Given the description of an element on the screen output the (x, y) to click on. 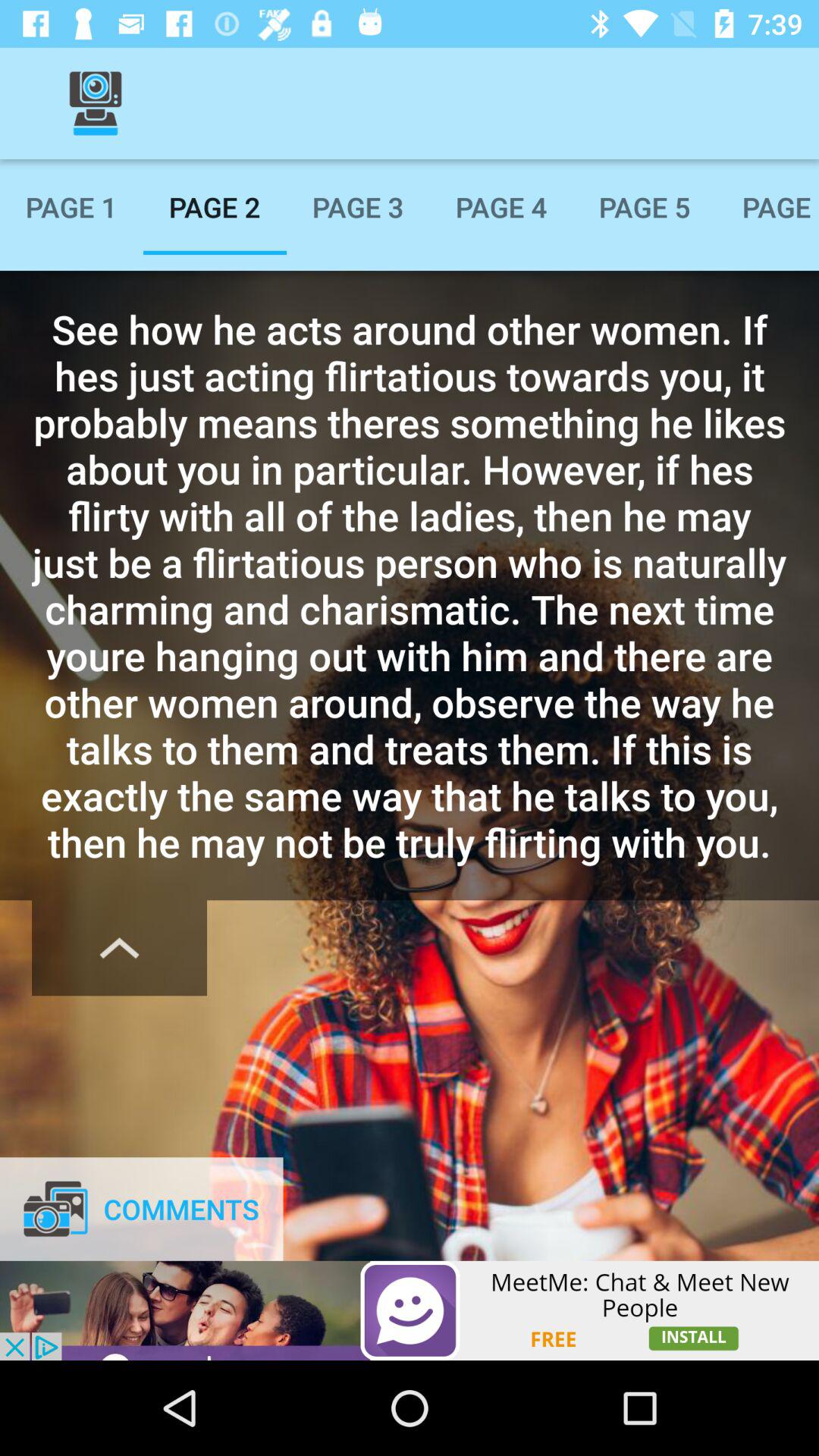
toggle a select option (119, 947)
